Given the description of an element on the screen output the (x, y) to click on. 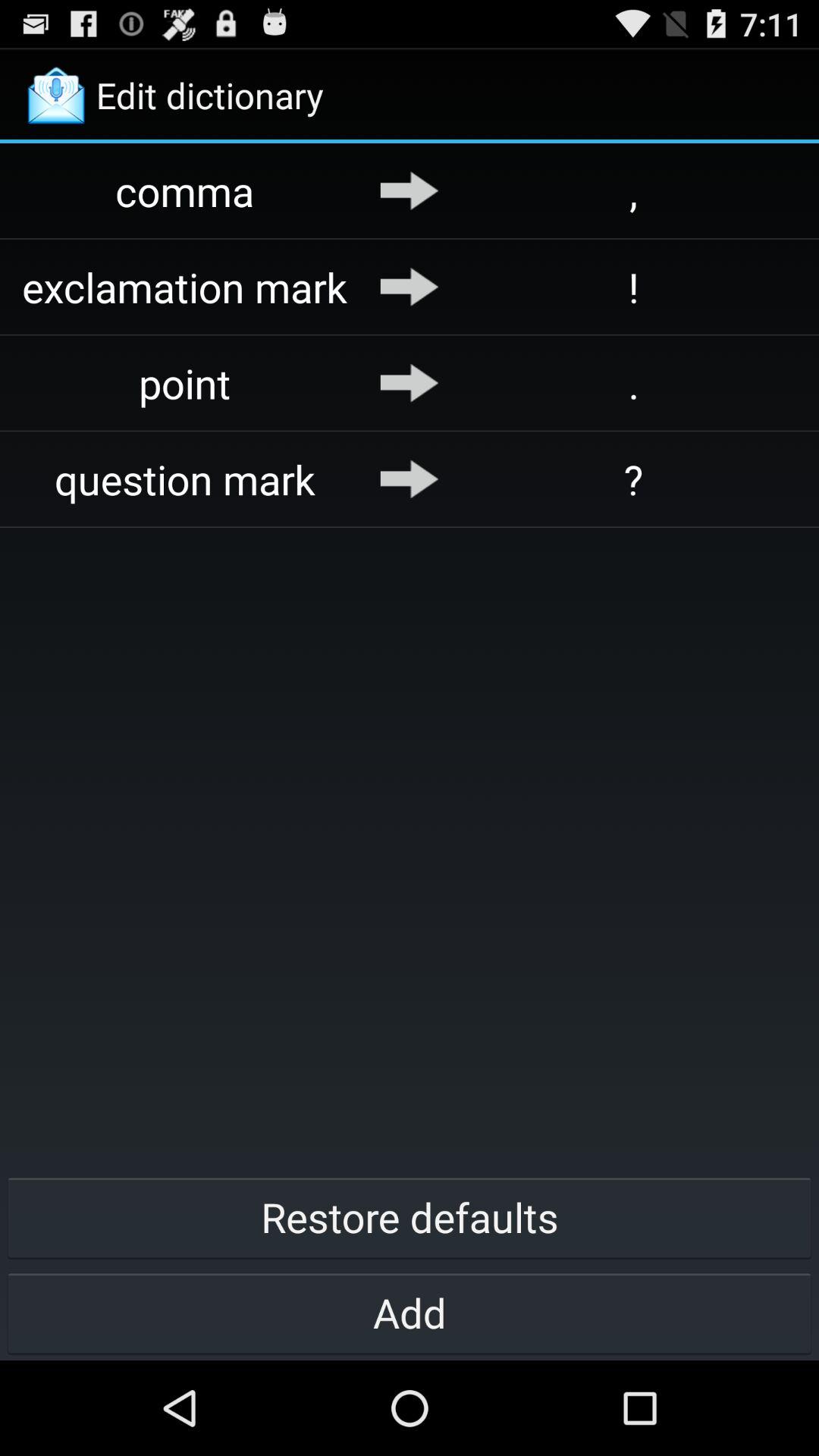
launch app above the exclamation mark app (185, 190)
